Given the description of an element on the screen output the (x, y) to click on. 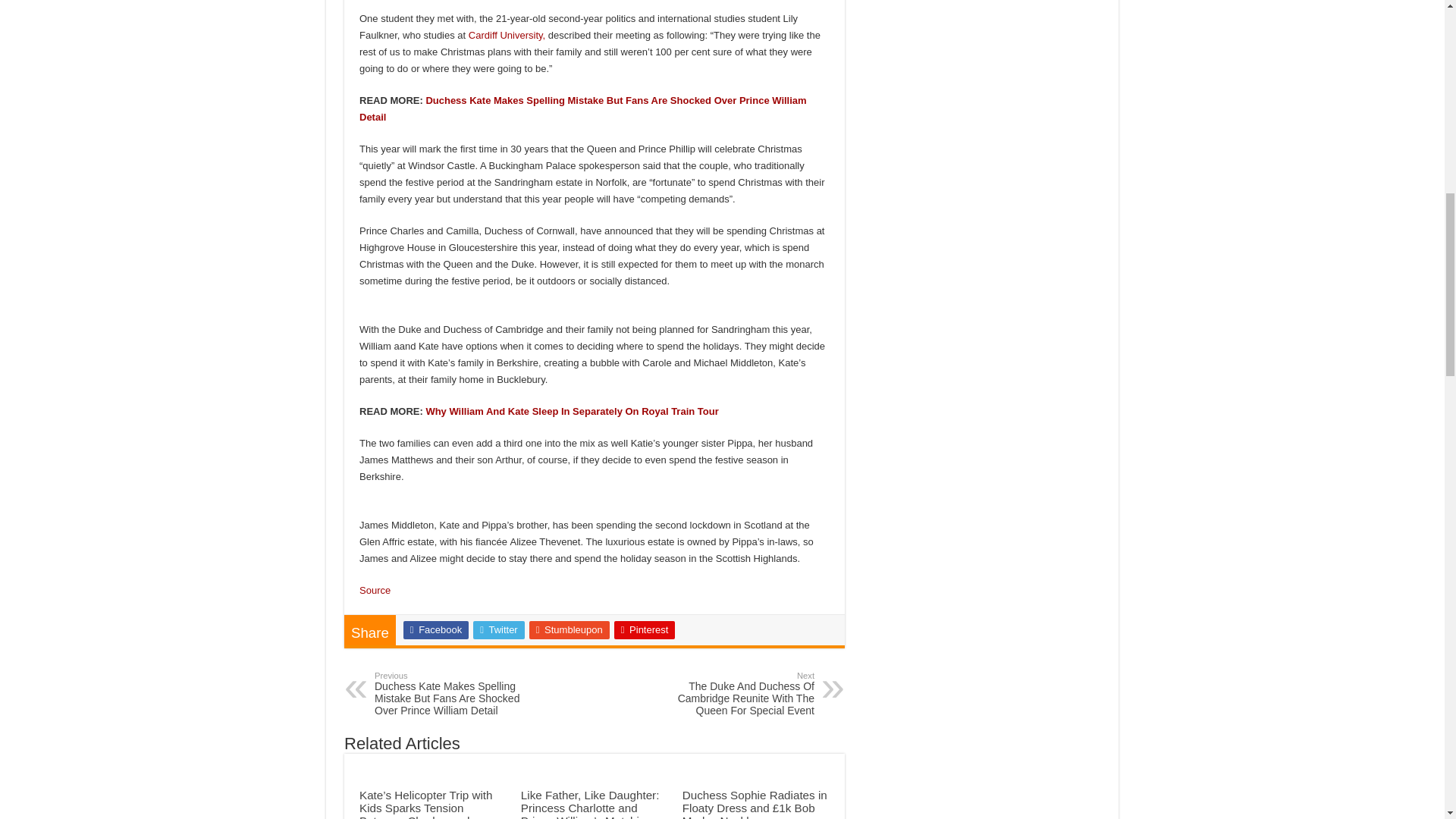
Stumbleupon (569, 629)
Cardiff University, (506, 34)
Why William And Kate Sleep In Separately On Royal Train Tour (571, 410)
Source (374, 590)
Twitter (498, 629)
Pinterest (644, 629)
Facebook (435, 629)
